Given the description of an element on the screen output the (x, y) to click on. 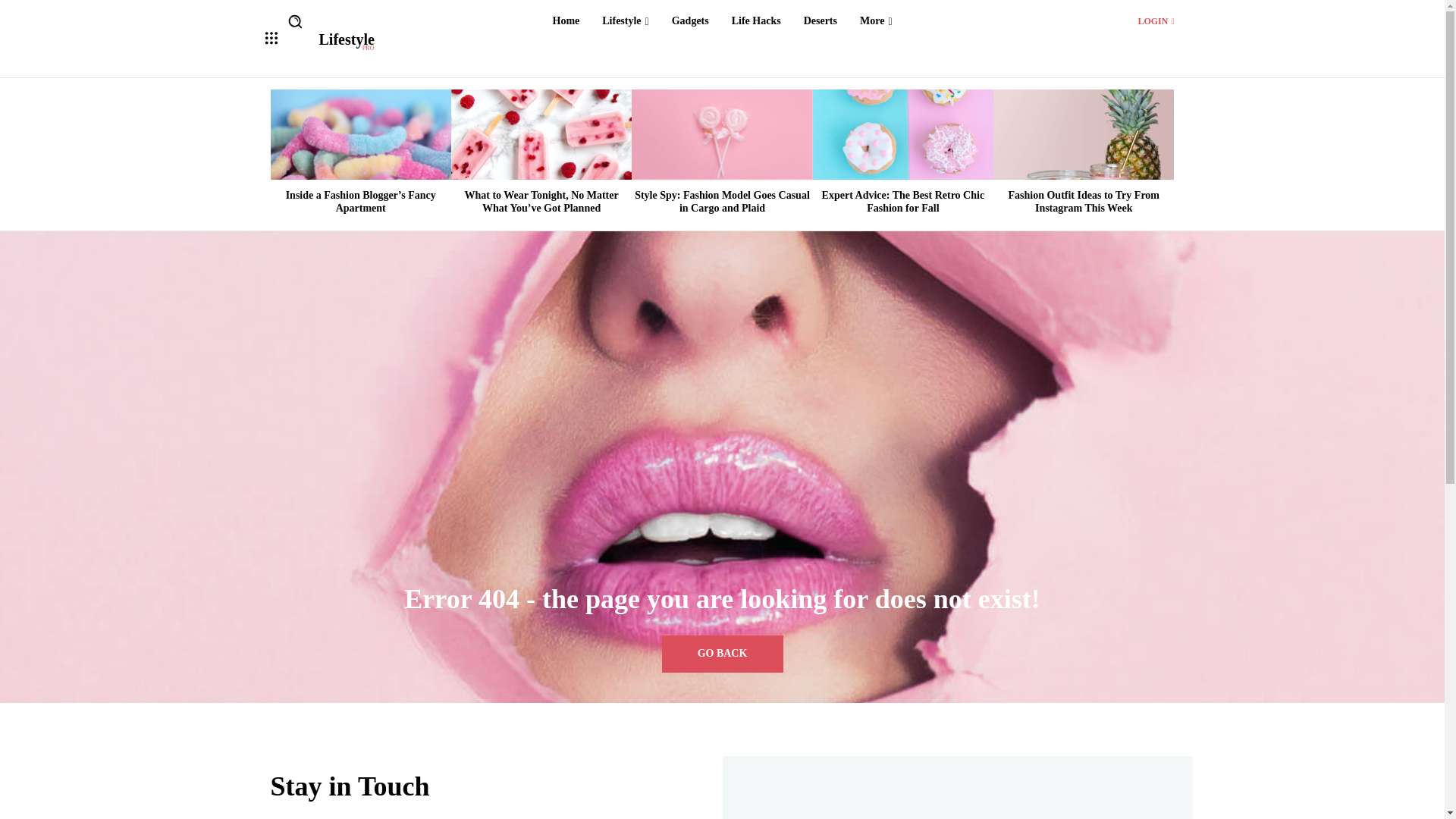
LOGIN (1155, 20)
Expert Advice: The Best Retro Chic Fashion for Fall (902, 134)
Expert Advice: The Best Retro Chic Fashion for Fall (903, 201)
Gadgets (689, 20)
Home (565, 20)
Style Spy: Fashion Model Goes Casual in Cargo and Plaid (721, 201)
Deserts (820, 20)
Lifestyle (625, 20)
Style Spy: Fashion Model Goes Casual in Cargo and Plaid (721, 134)
More (875, 20)
